Given the description of an element on the screen output the (x, y) to click on. 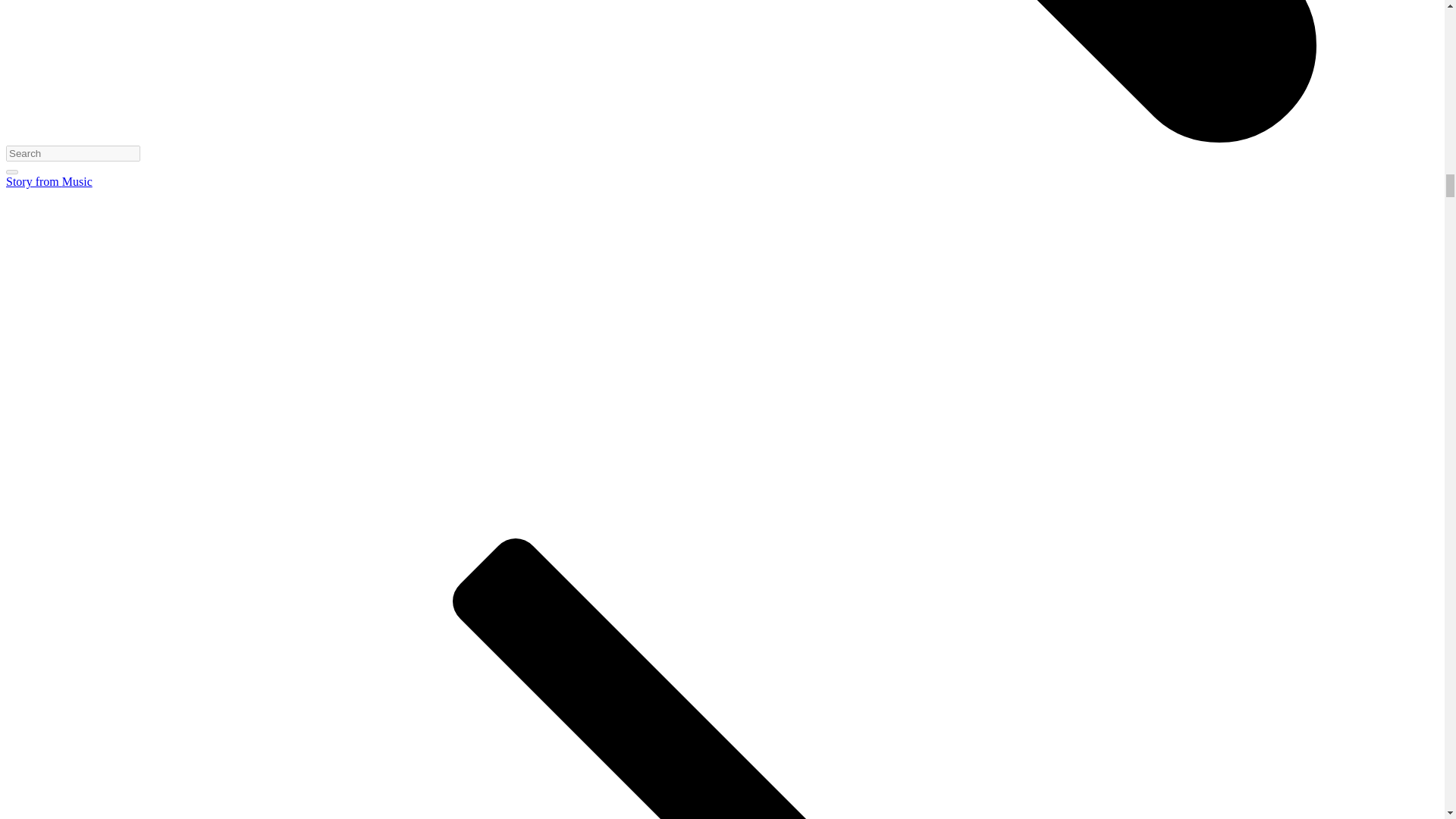
Close (11, 171)
